Given the description of an element on the screen output the (x, y) to click on. 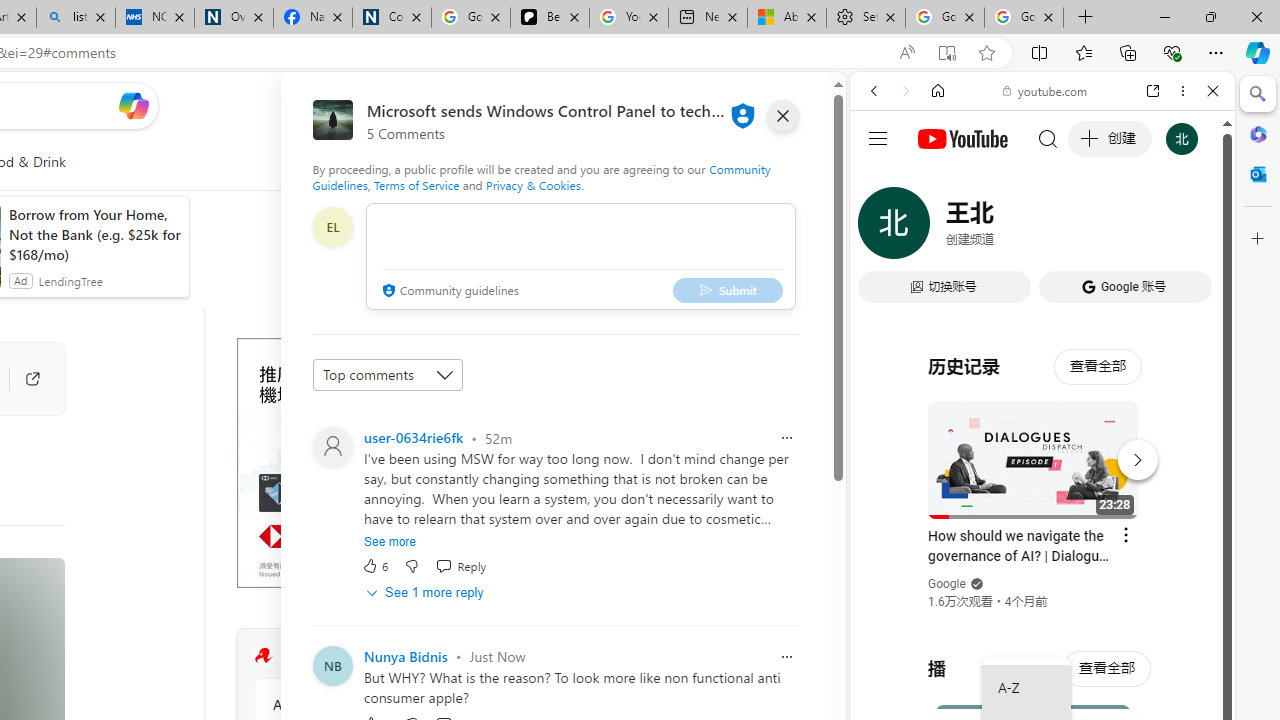
This site scope (936, 180)
Submit (728, 290)
Profile Picture (333, 665)
#you (1042, 445)
WEB   (882, 228)
6 Like (375, 565)
Class: qc-adchoices-icon (527, 345)
Show More Music (1164, 546)
Advertisement (386, 462)
